Given the description of an element on the screen output the (x, y) to click on. 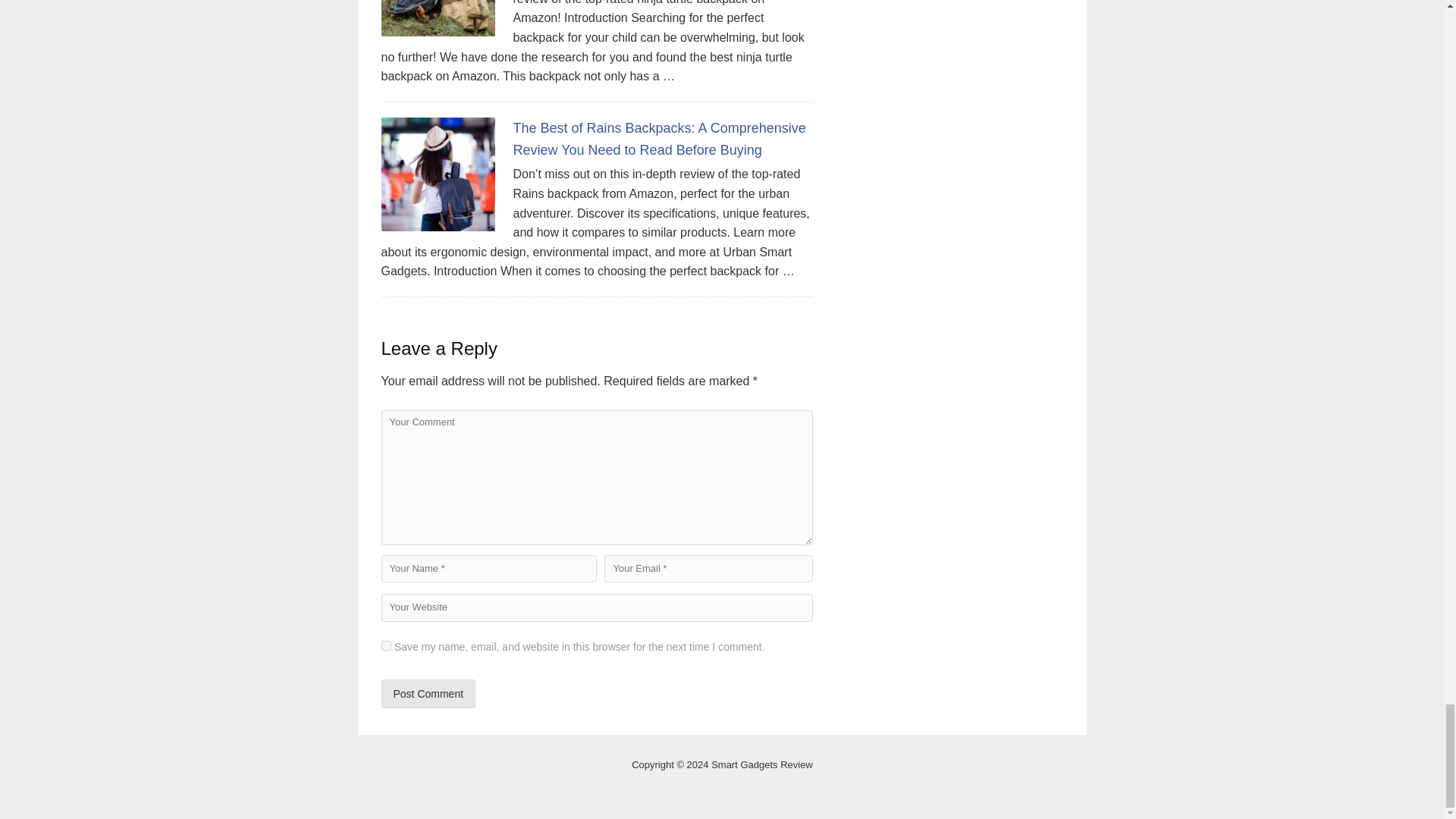
Post Comment (428, 693)
Post Comment (428, 693)
yes (385, 645)
